Given the description of an element on the screen output the (x, y) to click on. 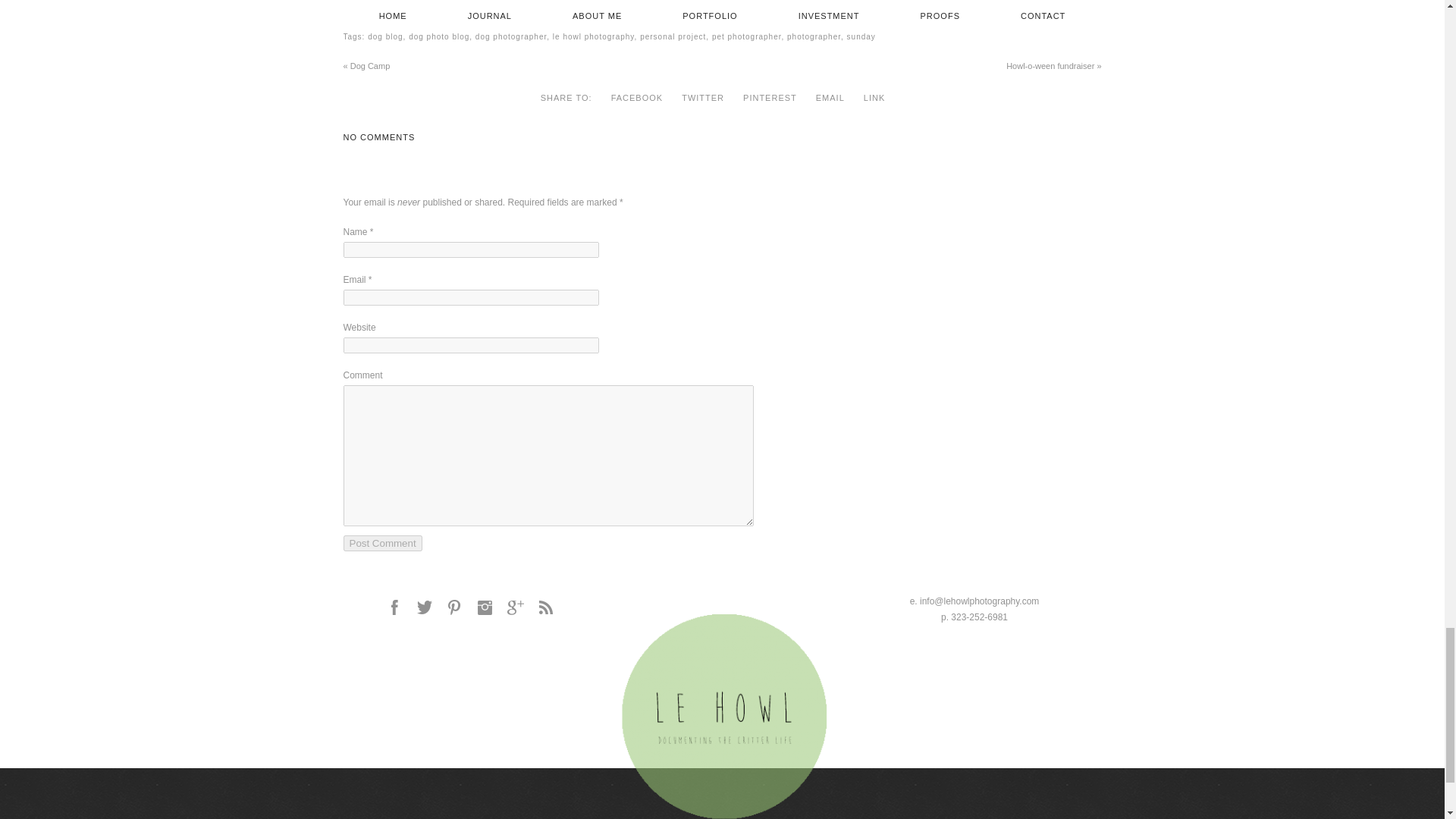
dog blog (385, 36)
dog photographer (511, 36)
Post Comment (382, 543)
pet photographer (746, 36)
TWITTER (702, 97)
sunday (861, 36)
FACEBOOK (637, 97)
personal project (673, 36)
le howl photography (593, 36)
dog photo blog (438, 36)
photographer (814, 36)
LINK (874, 97)
NO COMMENTS (378, 137)
PINTEREST (769, 97)
EMAIL (829, 97)
